Given the description of an element on the screen output the (x, y) to click on. 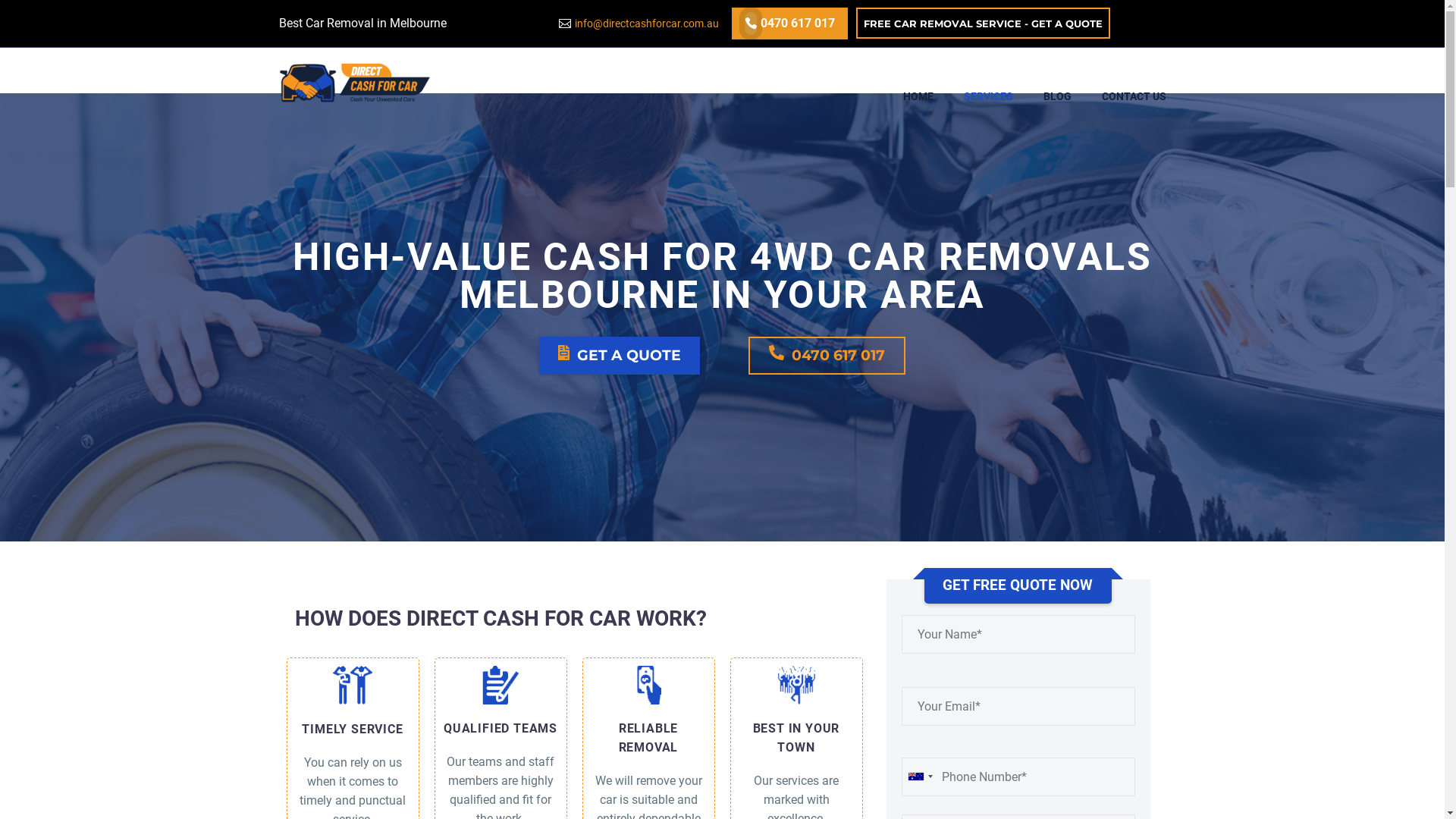
HOME Element type: text (917, 83)
0470 617 017 Element type: text (797, 22)
GET A QUOTE Element type: text (619, 355)
SERVICES Element type: text (987, 83)
0470 617 017 Element type: text (826, 355)
CONTACT US Element type: text (1132, 83)
FREE CAR REMOVAL SERVICE - GET A QUOTE Element type: text (983, 22)
Australia: +61 Element type: hover (919, 776)
info@directcashforcar.com.au Element type: text (646, 23)
BLOG Element type: text (1057, 83)
